Given the description of an element on the screen output the (x, y) to click on. 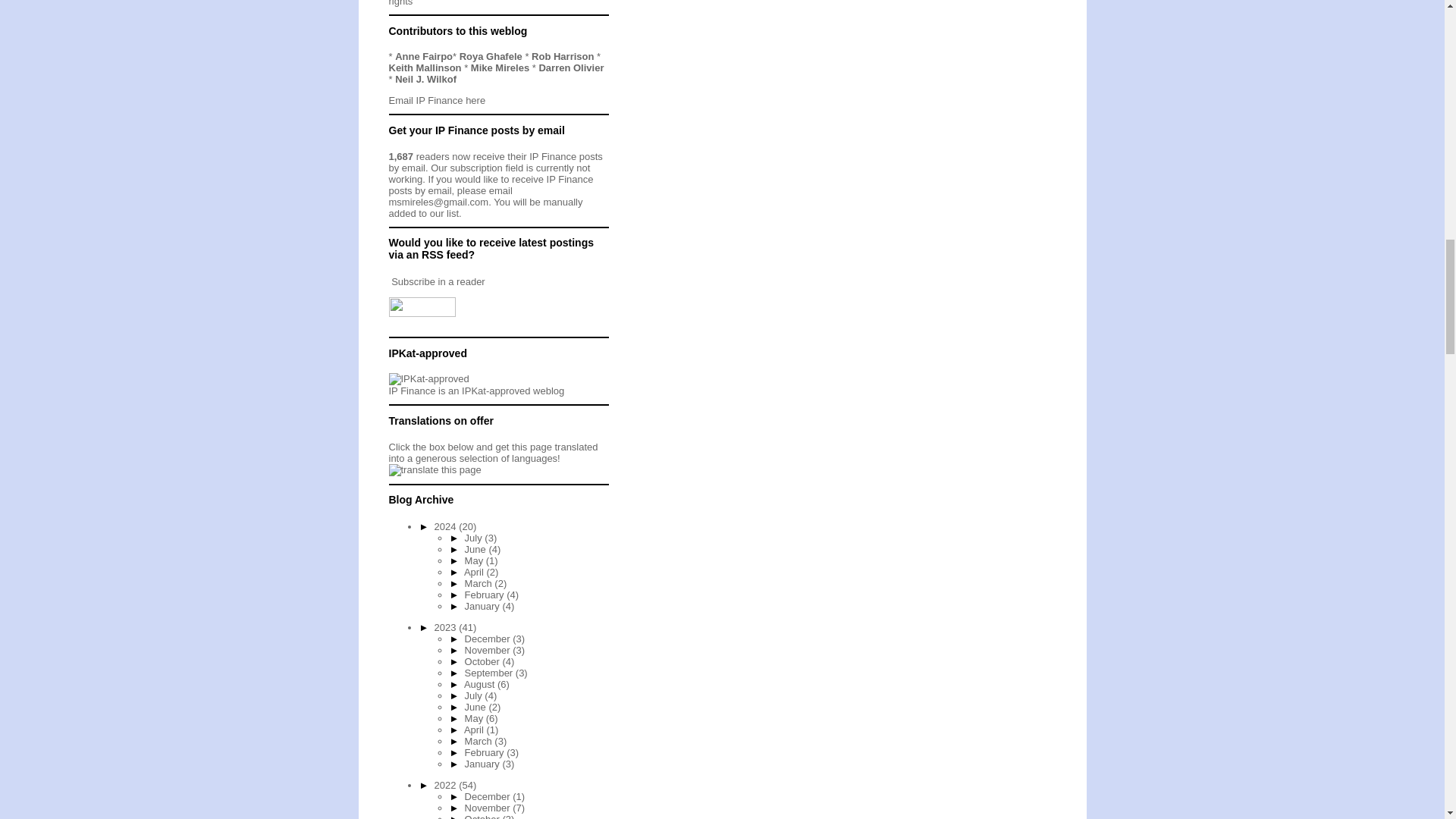
Rob Harrison (562, 56)
Anne Fairpo (423, 56)
Roya Ghafele (491, 56)
Mike Mireles (499, 67)
Keith Mallinson (424, 67)
Neil J. Wilkof (425, 79)
Darren Olivier (571, 67)
here (474, 100)
Subscribe in a reader (437, 281)
